Given the description of an element on the screen output the (x, y) to click on. 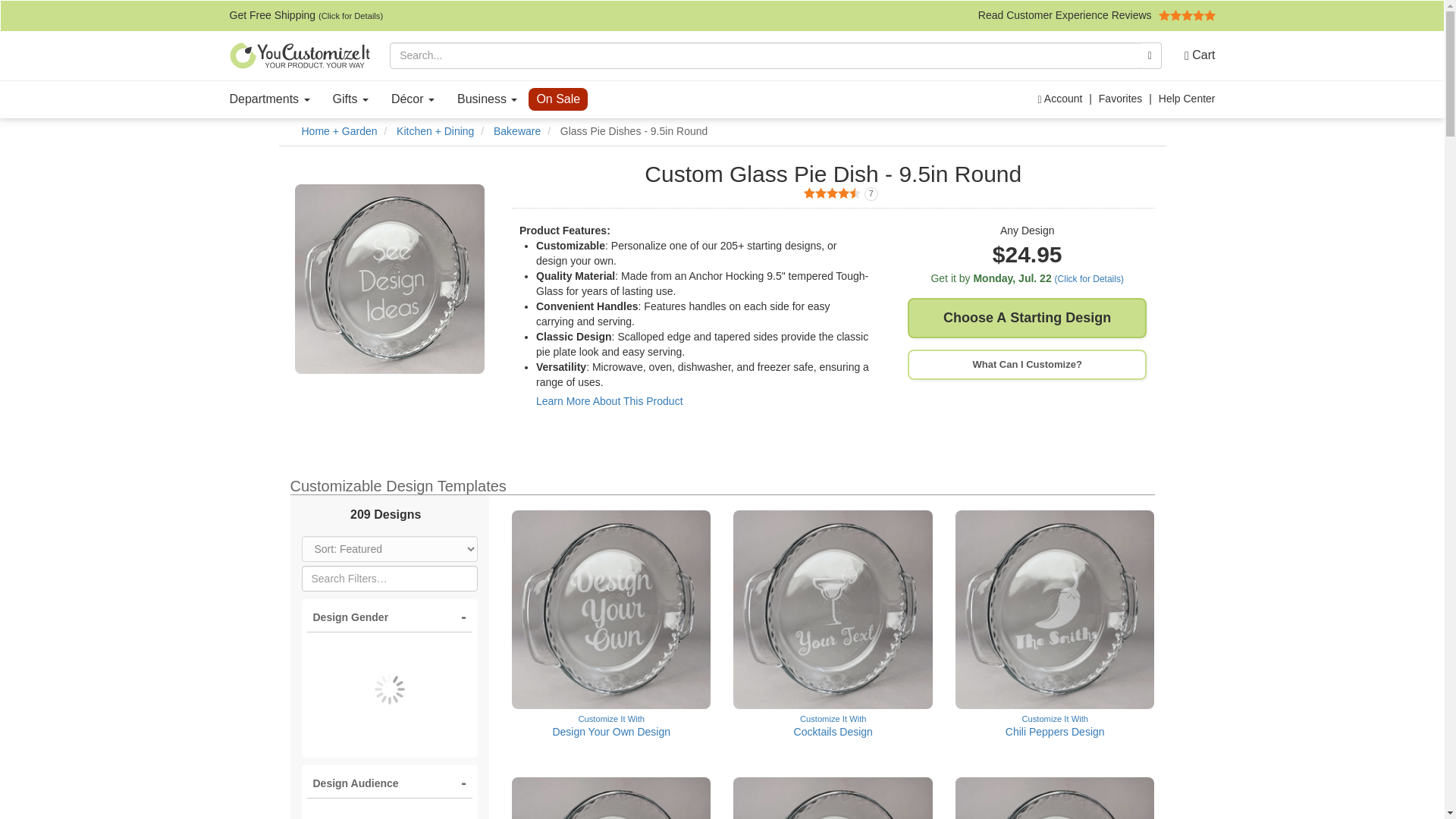
Cart (1194, 55)
Choose A Starting Design (1027, 318)
Learn More About This Product (608, 400)
Departments (269, 99)
Business (486, 99)
Read Customer Experience Reviews (1096, 15)
Gifts (833, 194)
Calculate Shipping (350, 99)
